Given the description of an element on the screen output the (x, y) to click on. 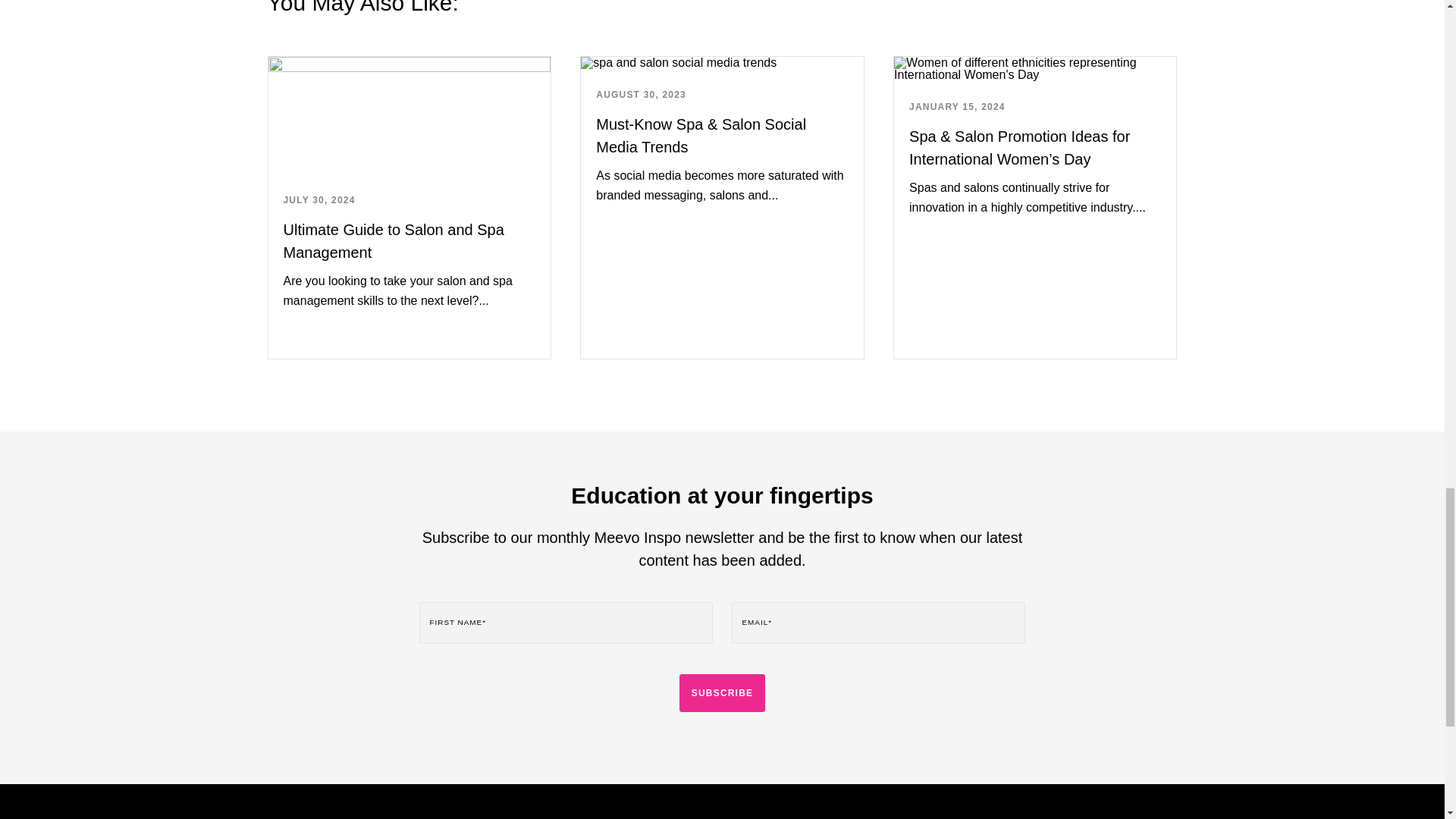
Subscribe (722, 692)
